Given the description of an element on the screen output the (x, y) to click on. 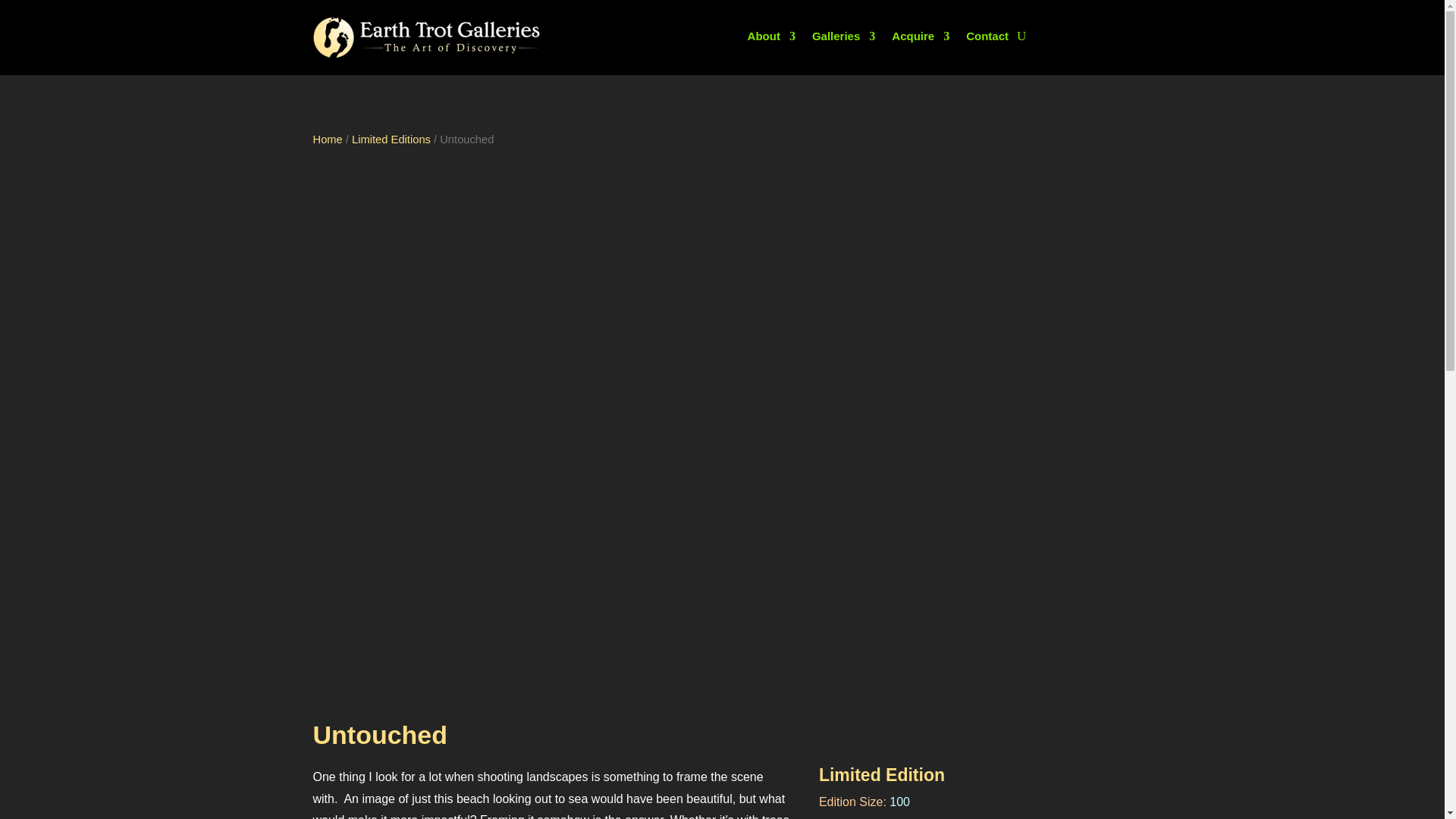
Home (327, 139)
Limited Editions (391, 139)
Galleries (843, 39)
Contact (987, 39)
Logo (426, 37)
Acquire (920, 39)
About (771, 39)
